Given the description of an element on the screen output the (x, y) to click on. 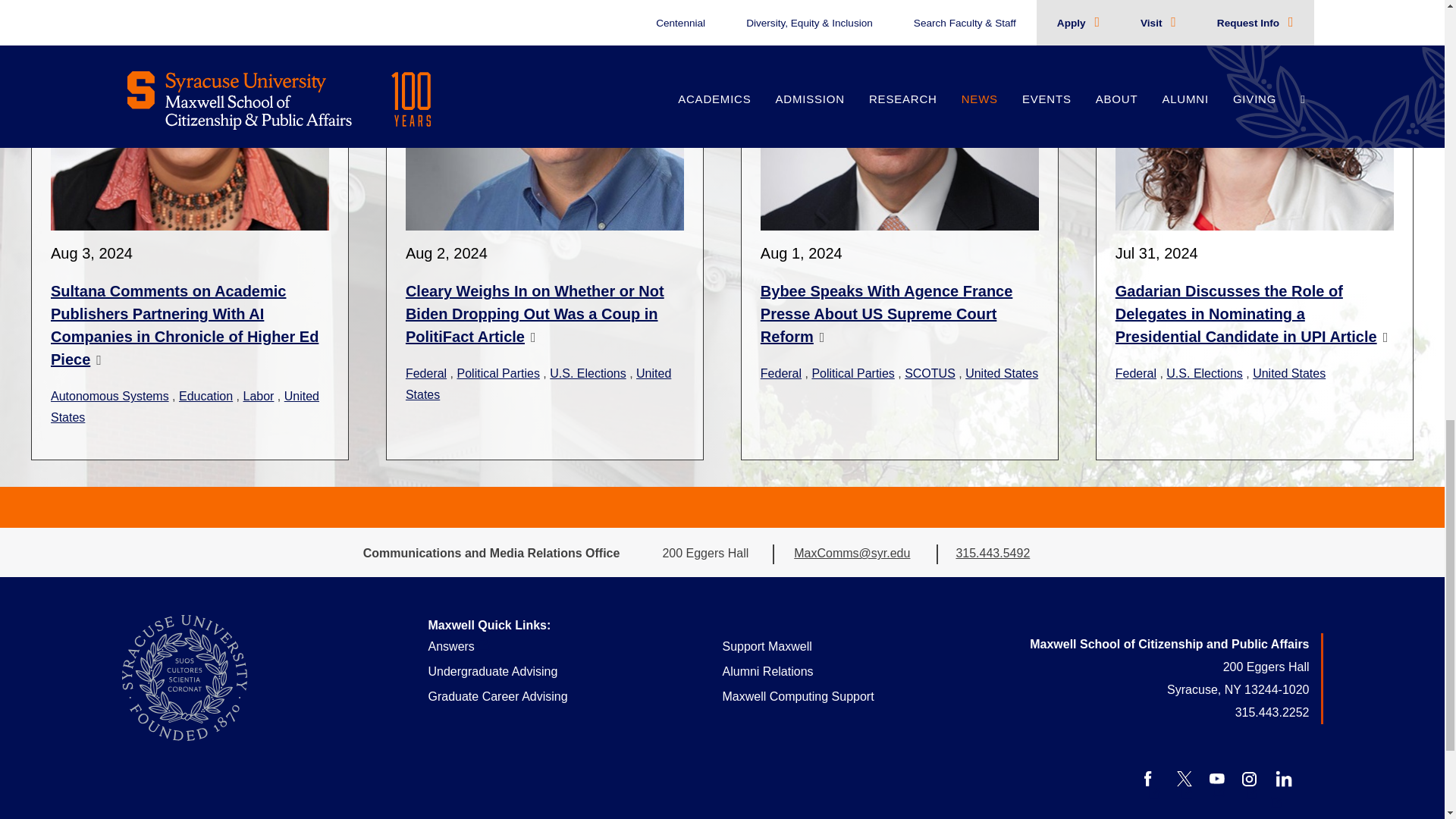
linkedin (1283, 778)
su-seal (183, 678)
youtube (1216, 778)
